Given the description of an element on the screen output the (x, y) to click on. 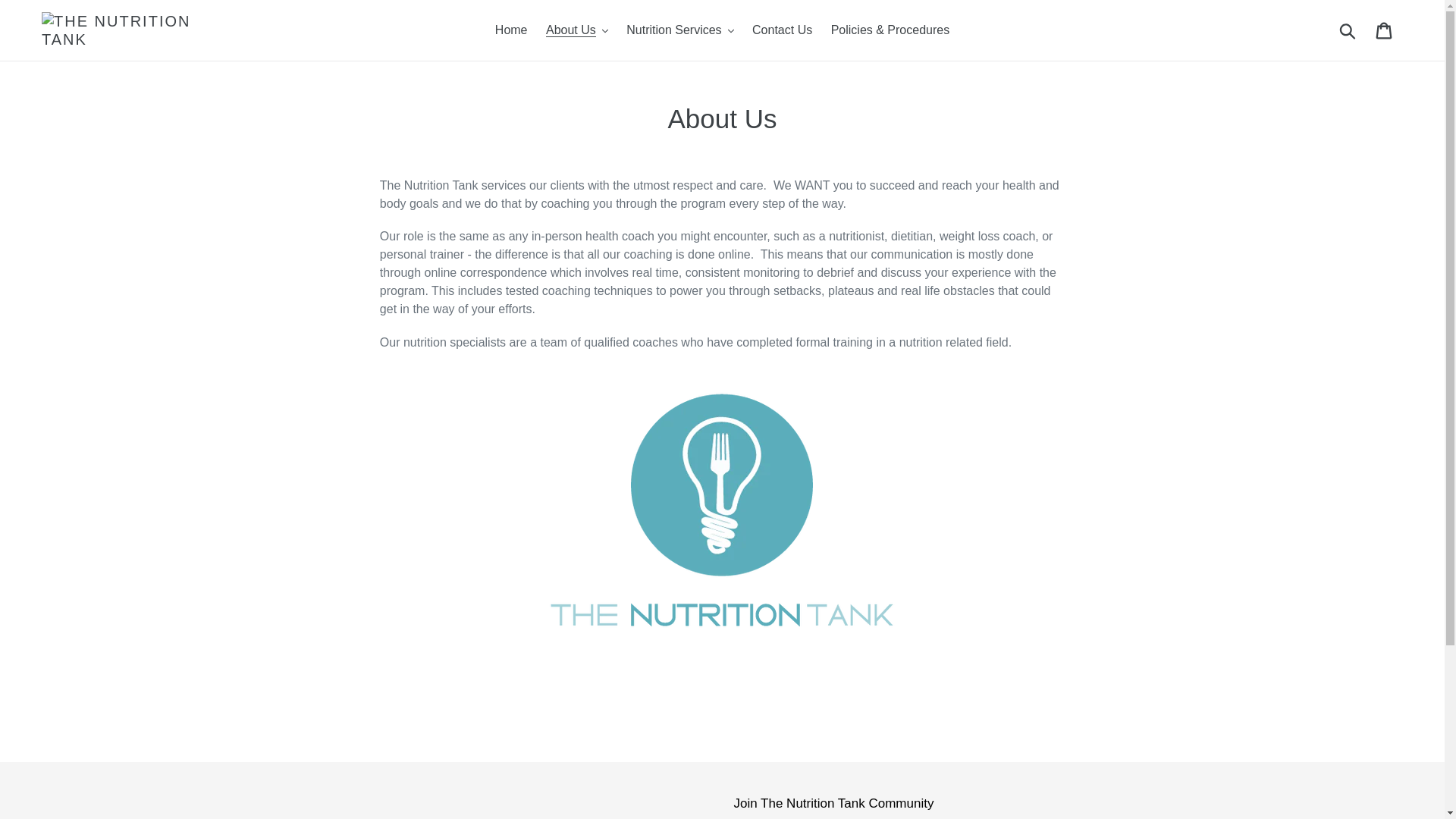
Cart (1385, 29)
Submit (1348, 29)
Home (511, 29)
Contact Us (781, 29)
